Given the description of an element on the screen output the (x, y) to click on. 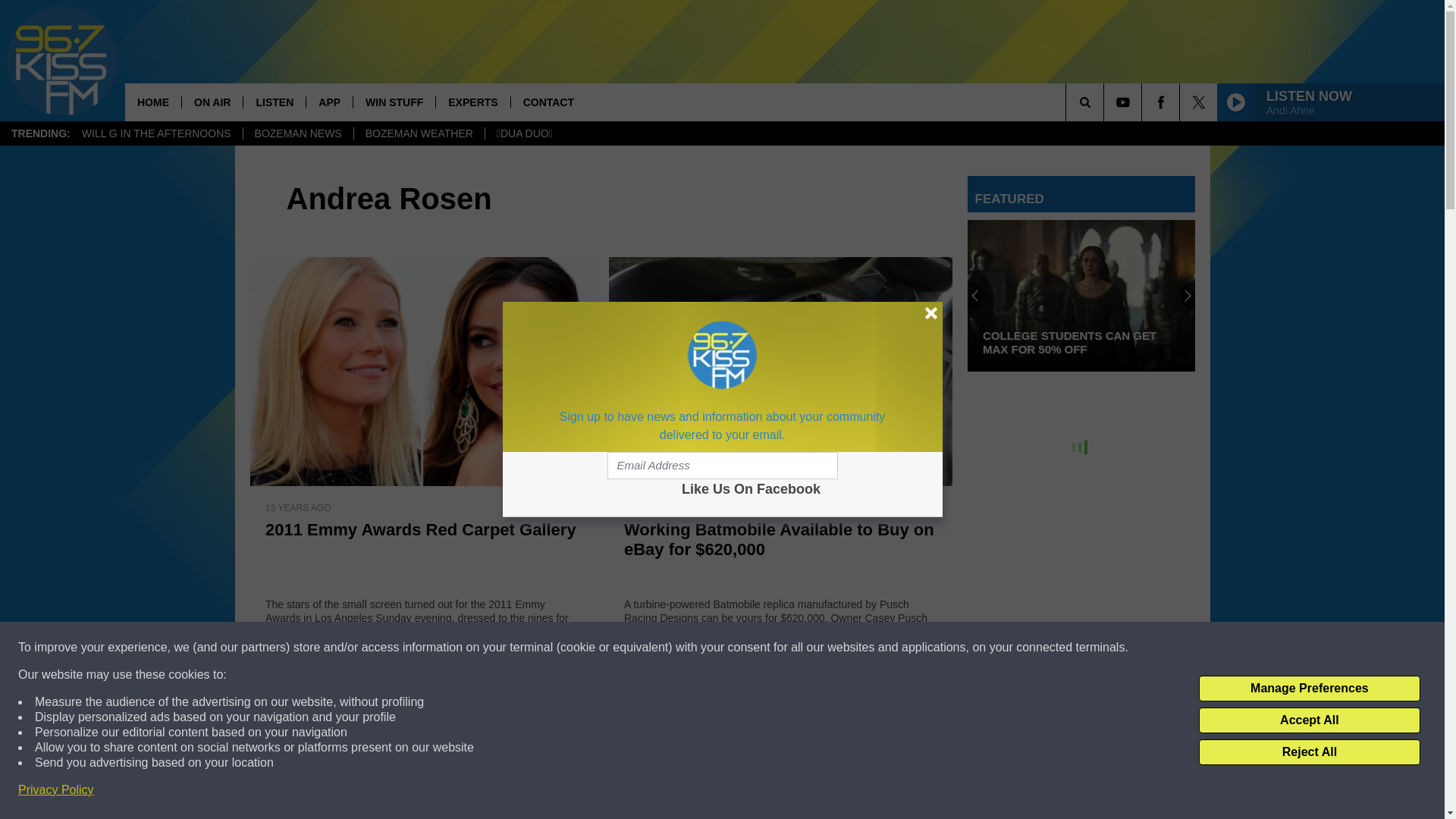
Reject All (1309, 751)
CONTACT (548, 102)
WILL G IN THE AFTERNOONS (156, 133)
SEARCH (1106, 102)
APP (328, 102)
BOZEMAN WEATHER (418, 133)
BOZEMAN NEWS (298, 133)
LISTEN (274, 102)
Email Address (722, 465)
HOME (152, 102)
Privacy Policy (55, 789)
ON AIR (211, 102)
WIN STUFF (393, 102)
EXPERTS (472, 102)
SEARCH (1106, 102)
